Given the description of an element on the screen output the (x, y) to click on. 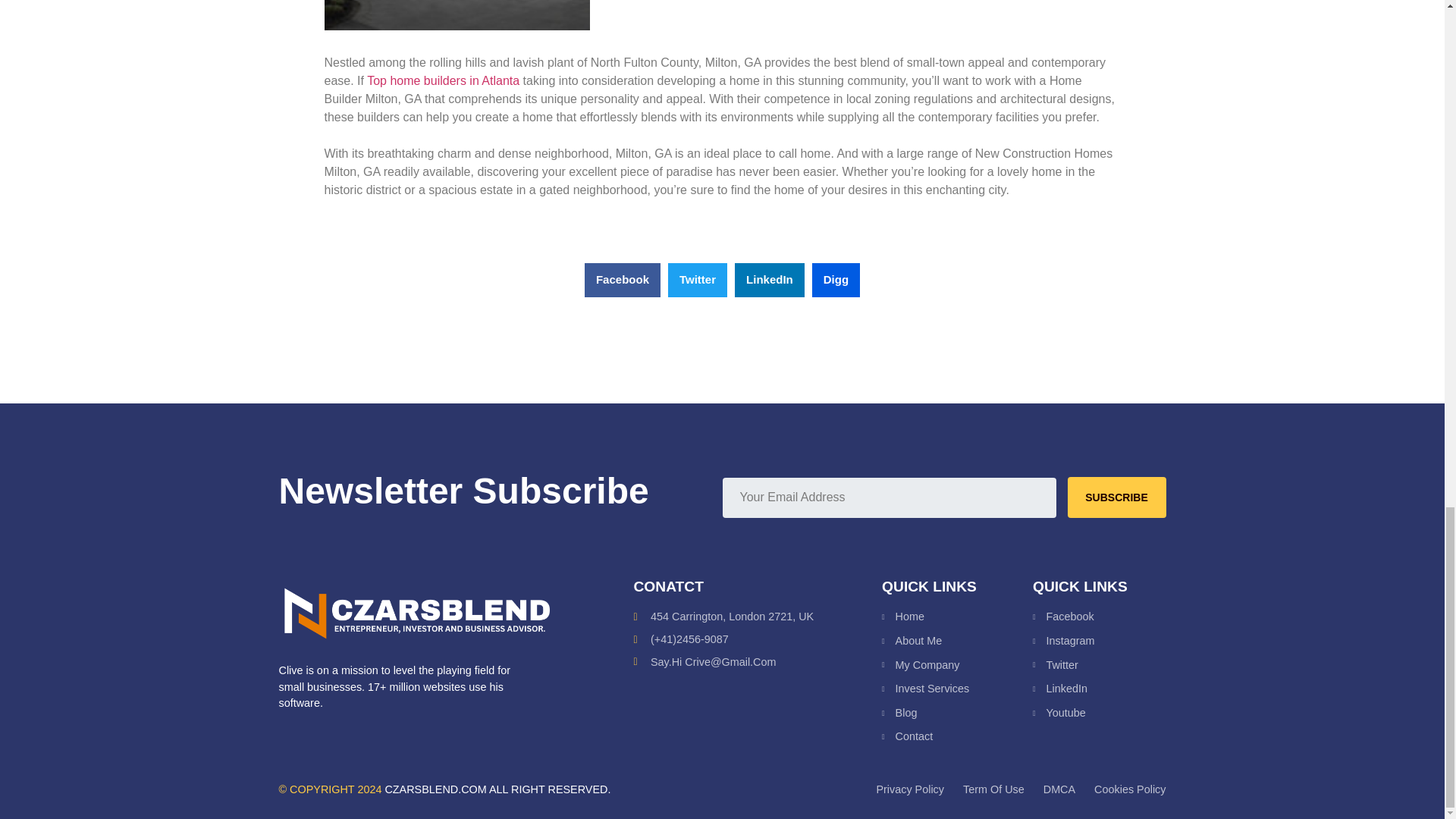
SUBSCRIBE (1116, 496)
Invest Services (957, 688)
About Me (957, 641)
LinkedIn (1097, 688)
Privacy Policy (909, 790)
Term Of Use (993, 790)
Contact (957, 736)
Home (957, 617)
Blog (957, 713)
Instagram (1097, 641)
